Given the description of an element on the screen output the (x, y) to click on. 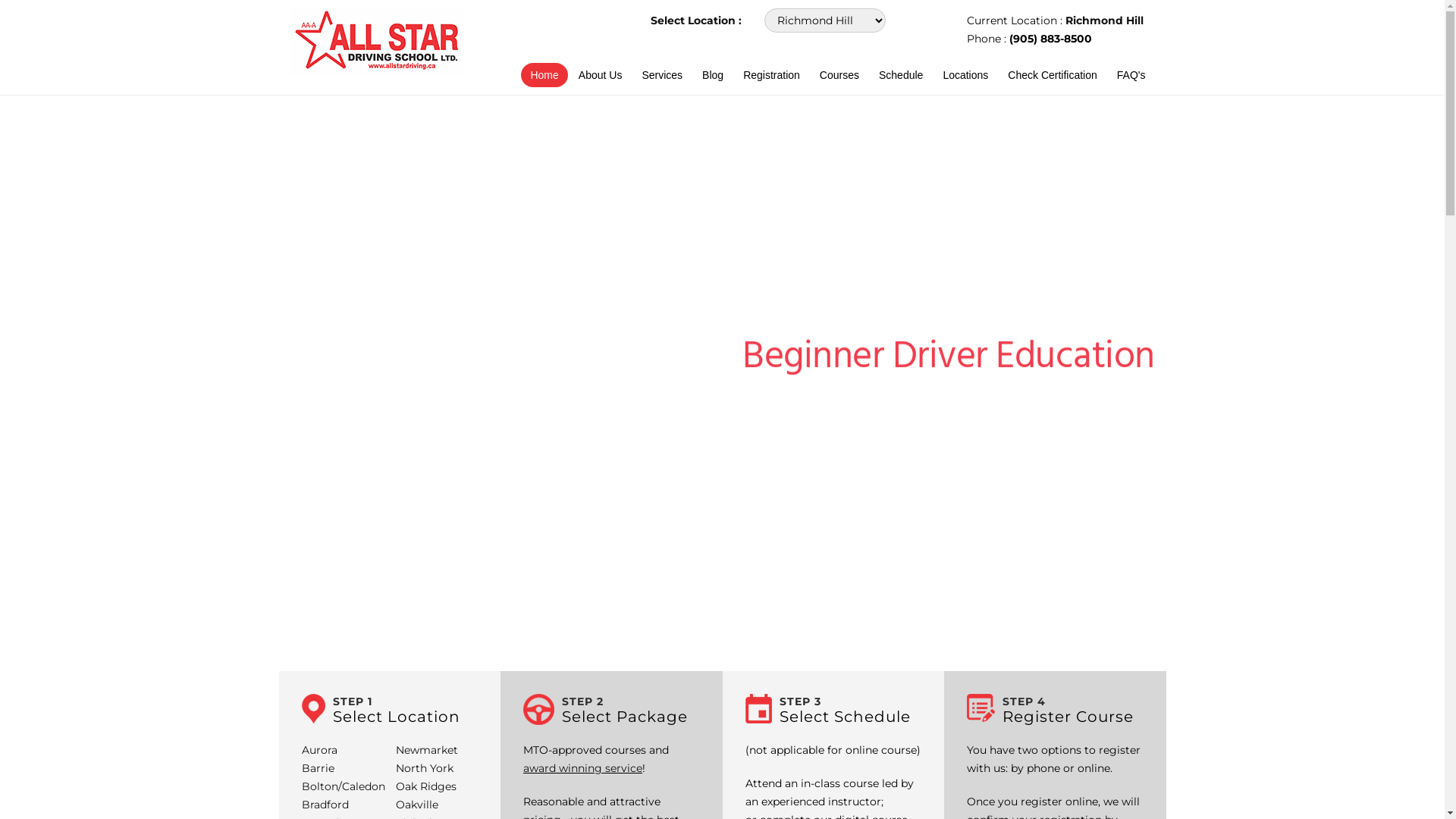
Check Certification Element type: text (1052, 74)
Home Element type: text (543, 74)
Oak Ridges Element type: text (425, 786)
award winning service Element type: text (582, 768)
Services Element type: text (661, 74)
Bradford Element type: text (324, 804)
FAQ's Element type: text (1130, 74)
North York Element type: text (424, 768)
Schedule Element type: text (900, 74)
Courses Element type: text (839, 74)
About Us Element type: text (600, 74)
Registration Element type: text (771, 74)
Barrie Element type: text (317, 768)
Aurora Element type: text (319, 749)
Locations Element type: text (965, 74)
Oakville Element type: text (416, 804)
Blog Element type: text (712, 74)
Newmarket Element type: text (426, 749)
Bolton/Caledon Element type: text (343, 786)
